Given the description of an element on the screen output the (x, y) to click on. 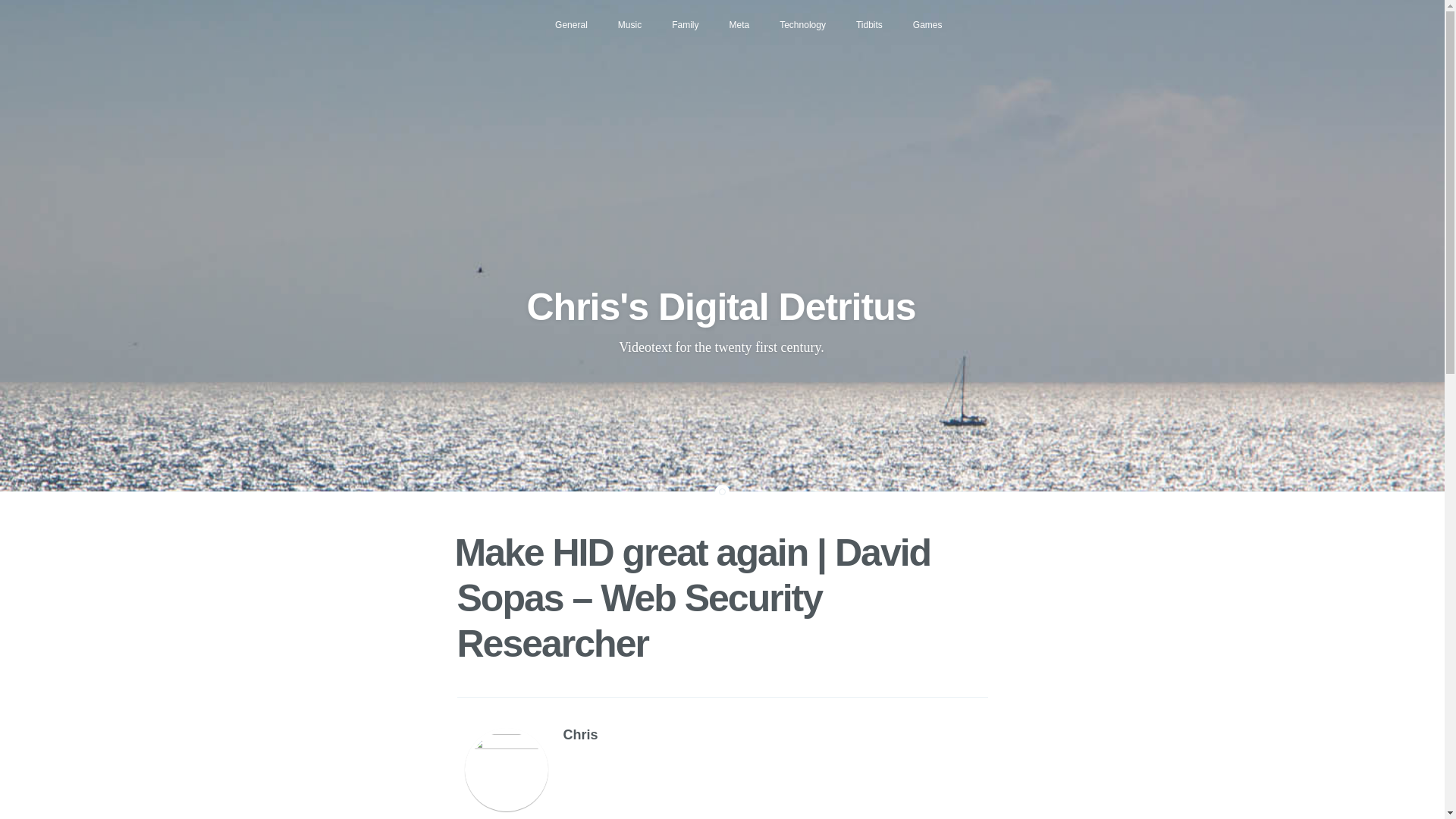
Chris (579, 734)
Games (928, 24)
Chris's Digital Detritus (720, 306)
Skip to content (472, 12)
Music (629, 24)
Meta (739, 24)
Technology (802, 24)
General (571, 24)
Family (684, 24)
Tidbits (869, 24)
